Given the description of an element on the screen output the (x, y) to click on. 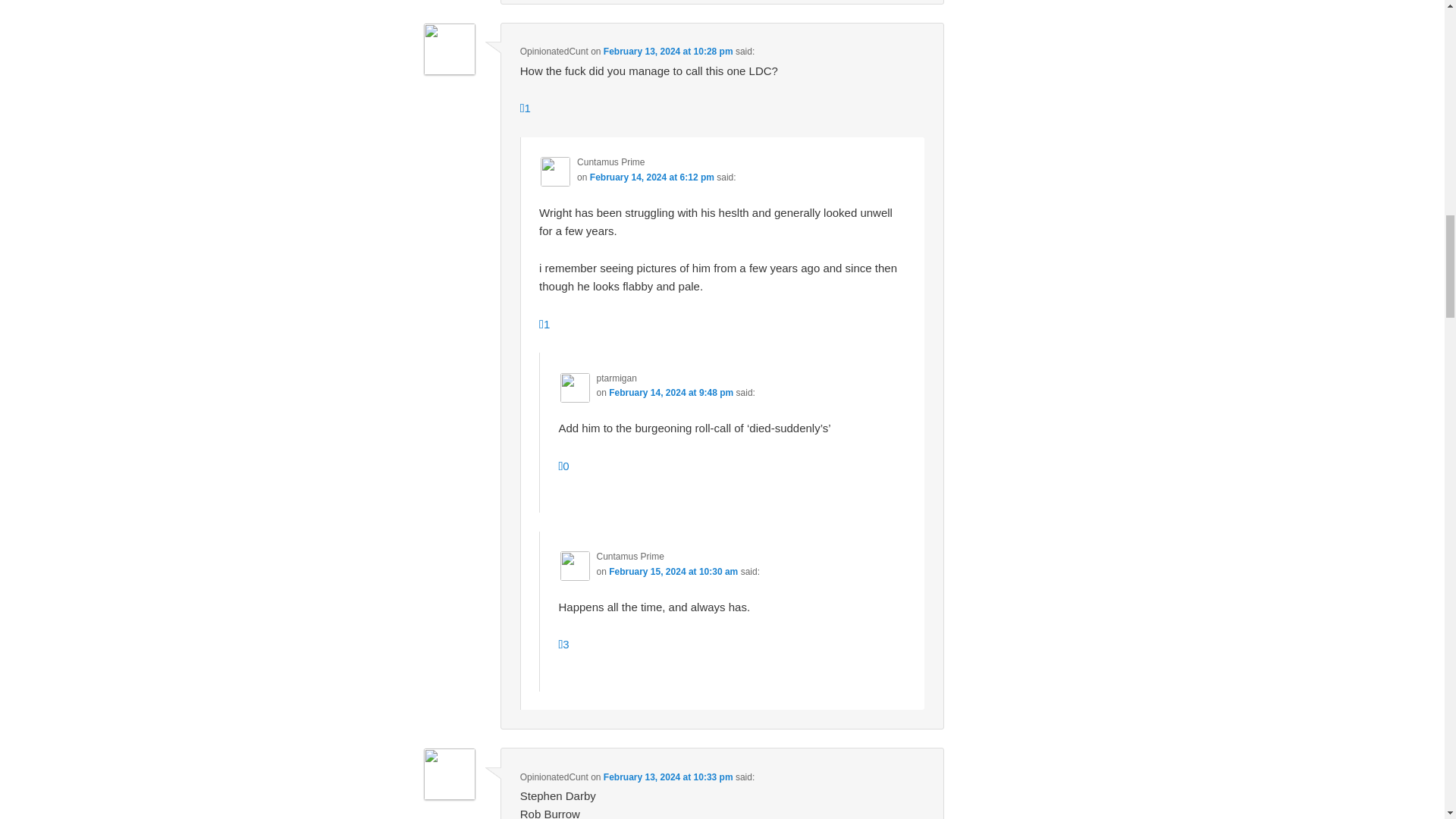
February 13, 2024 at 10:33 pm (668, 777)
February 14, 2024 at 9:48 pm (670, 392)
February 14, 2024 at 6:12 pm (651, 176)
February 15, 2024 at 10:30 am (673, 571)
February 13, 2024 at 10:28 pm (668, 50)
